Given the description of an element on the screen output the (x, y) to click on. 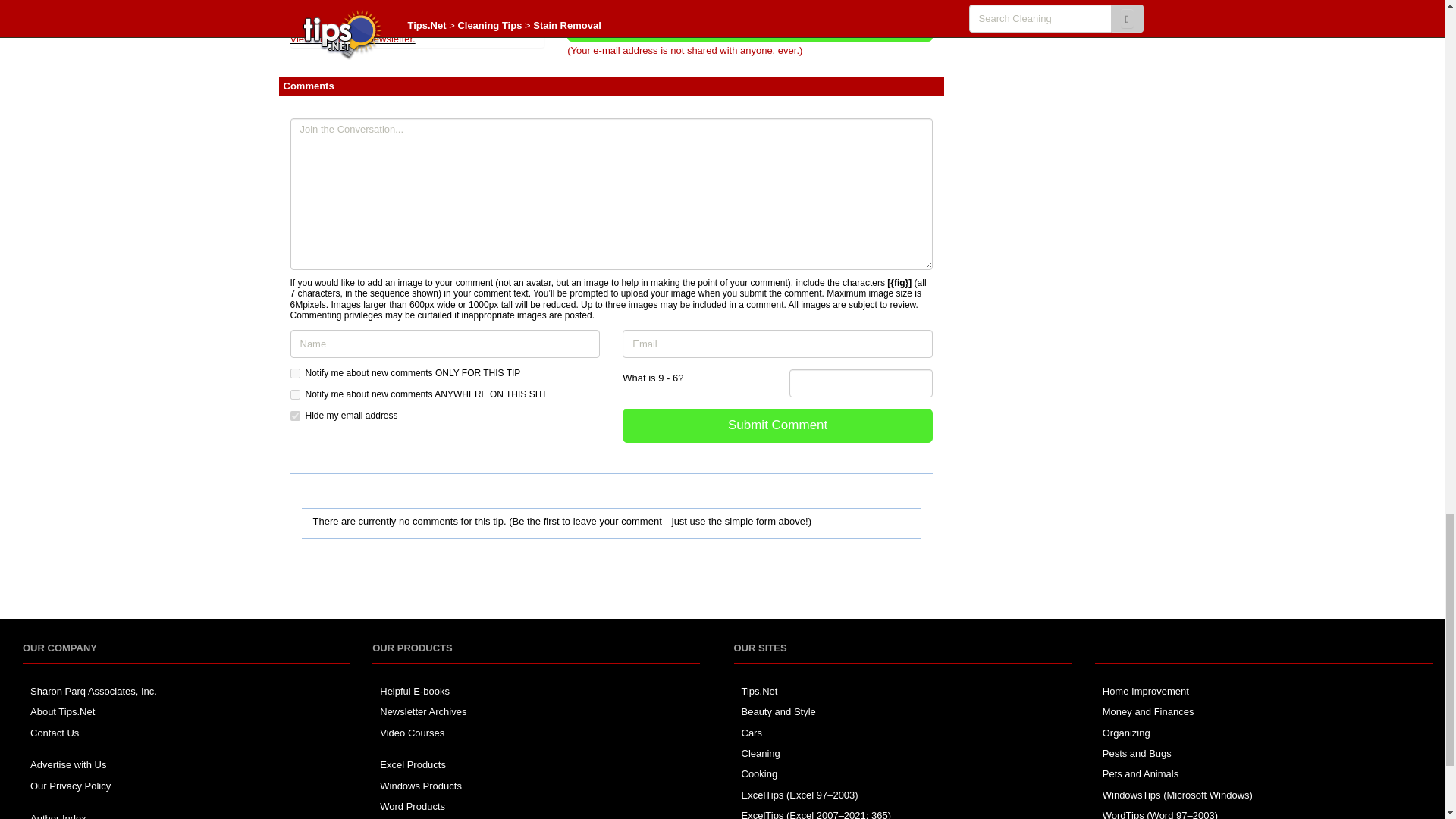
Submit Comment (778, 425)
option1 (294, 373)
Subscribe (750, 24)
Author Index (57, 816)
Newsletter Archives (422, 711)
About Tips.Net (62, 711)
Helpful E-books (414, 690)
Excel Products (412, 764)
Windows Products (420, 785)
option2 (294, 394)
